Given the description of an element on the screen output the (x, y) to click on. 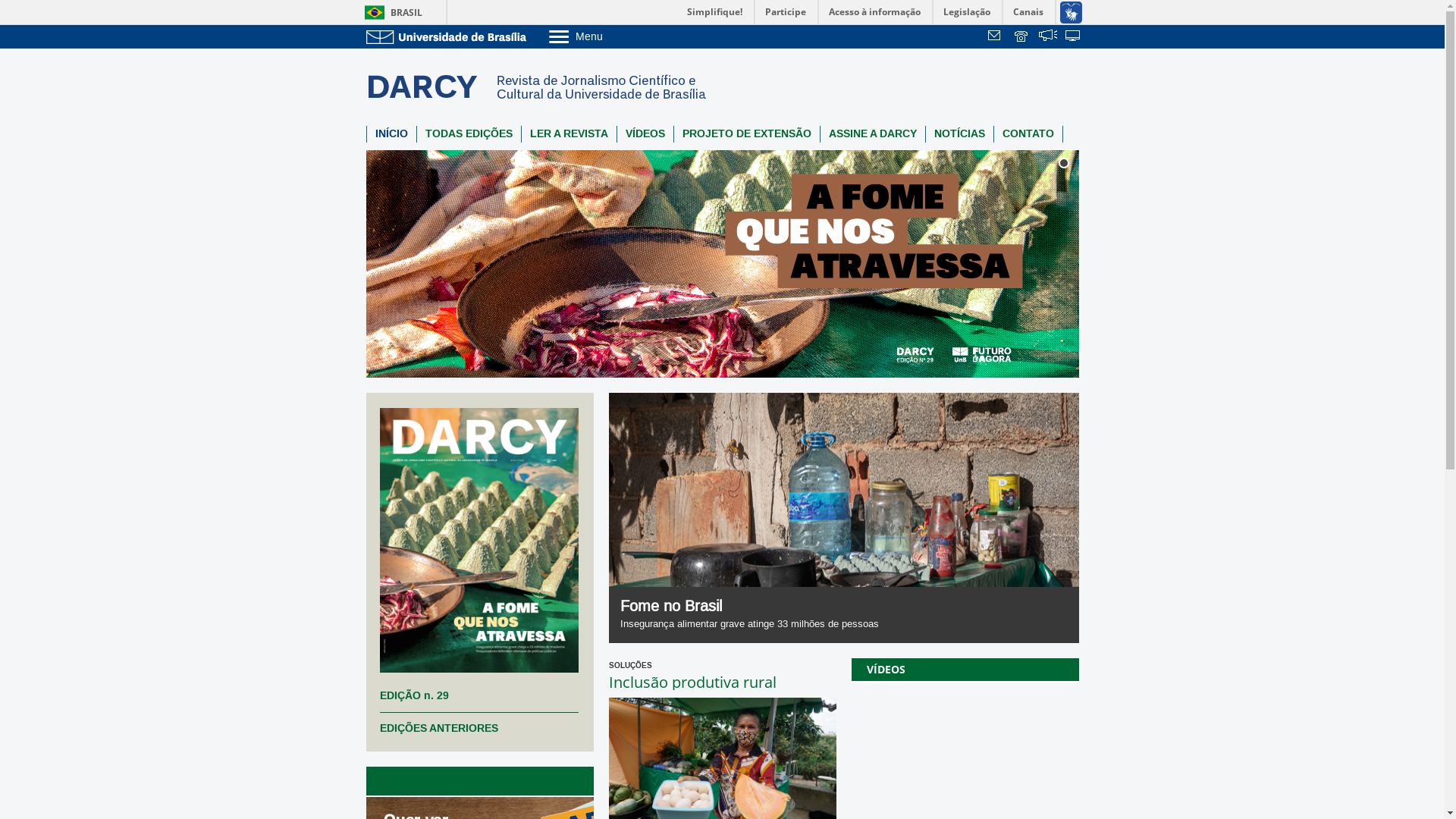
  Element type: text (1073, 37)
Webmail Element type: hover (996, 37)
CONTATO Element type: text (1027, 133)
Fome no Brasil Element type: text (670, 606)
  Element type: text (996, 37)
BRASIL Element type: text (389, 12)
Ir para o Portal da UnB Element type: hover (448, 36)
Sistemas Element type: hover (1073, 37)
  Element type: text (1047, 37)
  Element type: text (1022, 37)
Telefones da UnB Element type: hover (1022, 37)
LER A REVISTA Element type: text (568, 133)
ASSINE A DARCY Element type: text (872, 133)
Menu Element type: text (613, 35)
Fala.BR Element type: hover (1047, 37)
